Given the description of an element on the screen output the (x, y) to click on. 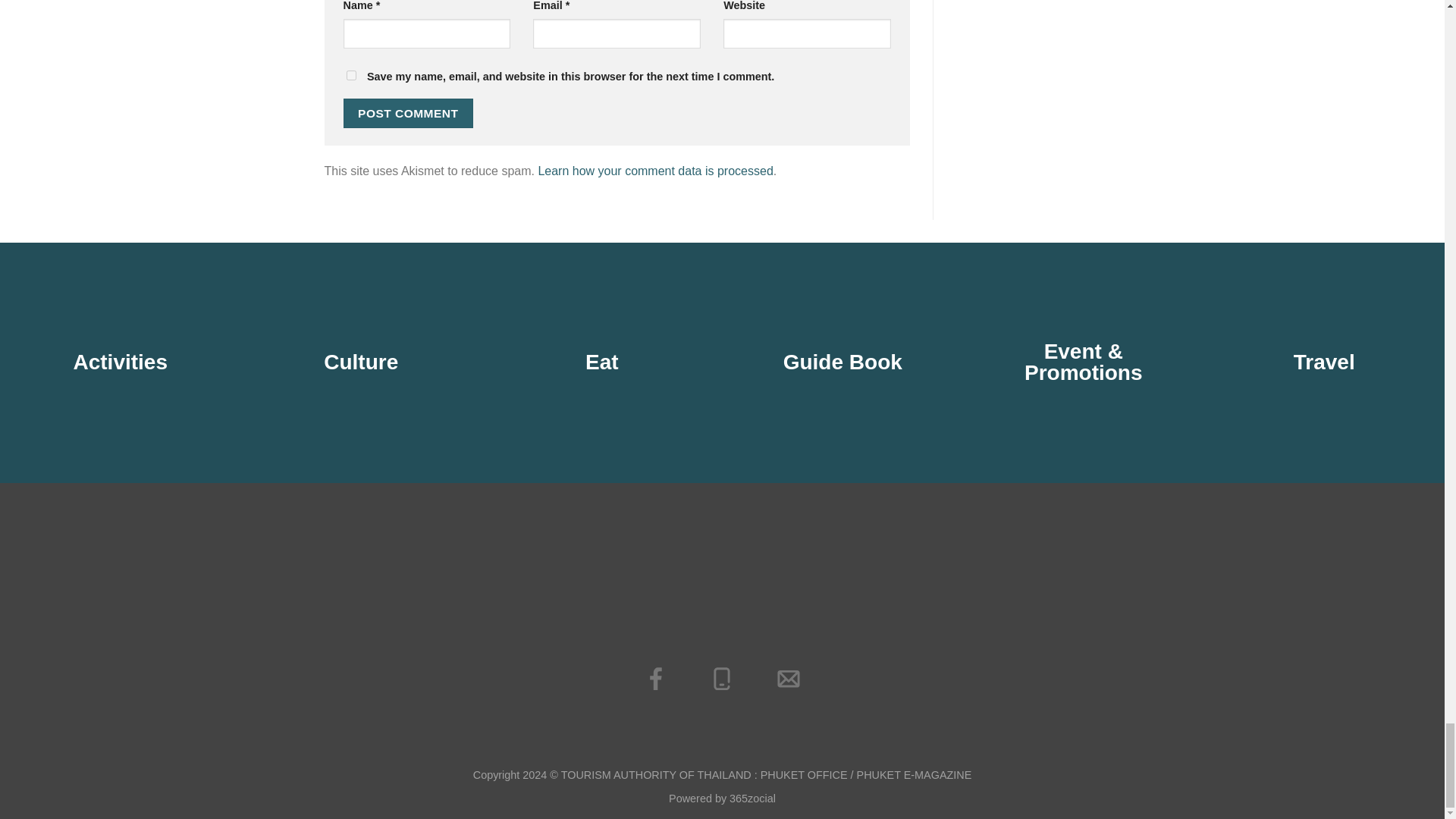
yes (350, 75)
Post Comment (407, 112)
Post Comment (407, 112)
